Given the description of an element on the screen output the (x, y) to click on. 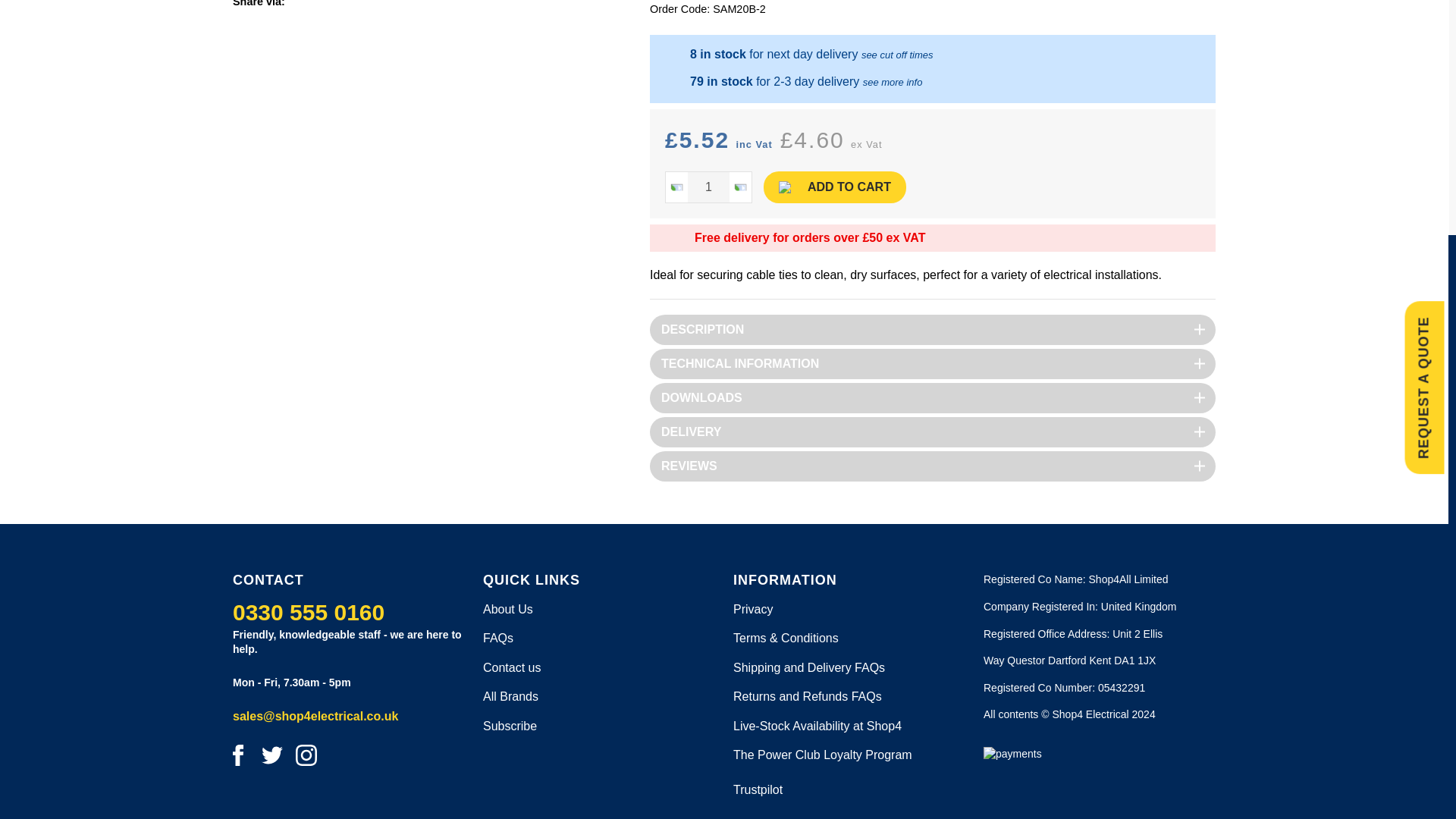
Our terms and conditions of use (785, 637)
Legal notice (753, 608)
1 (708, 187)
Learn more about us (507, 608)
Use our form to contact us (511, 667)
